Given the description of an element on the screen output the (x, y) to click on. 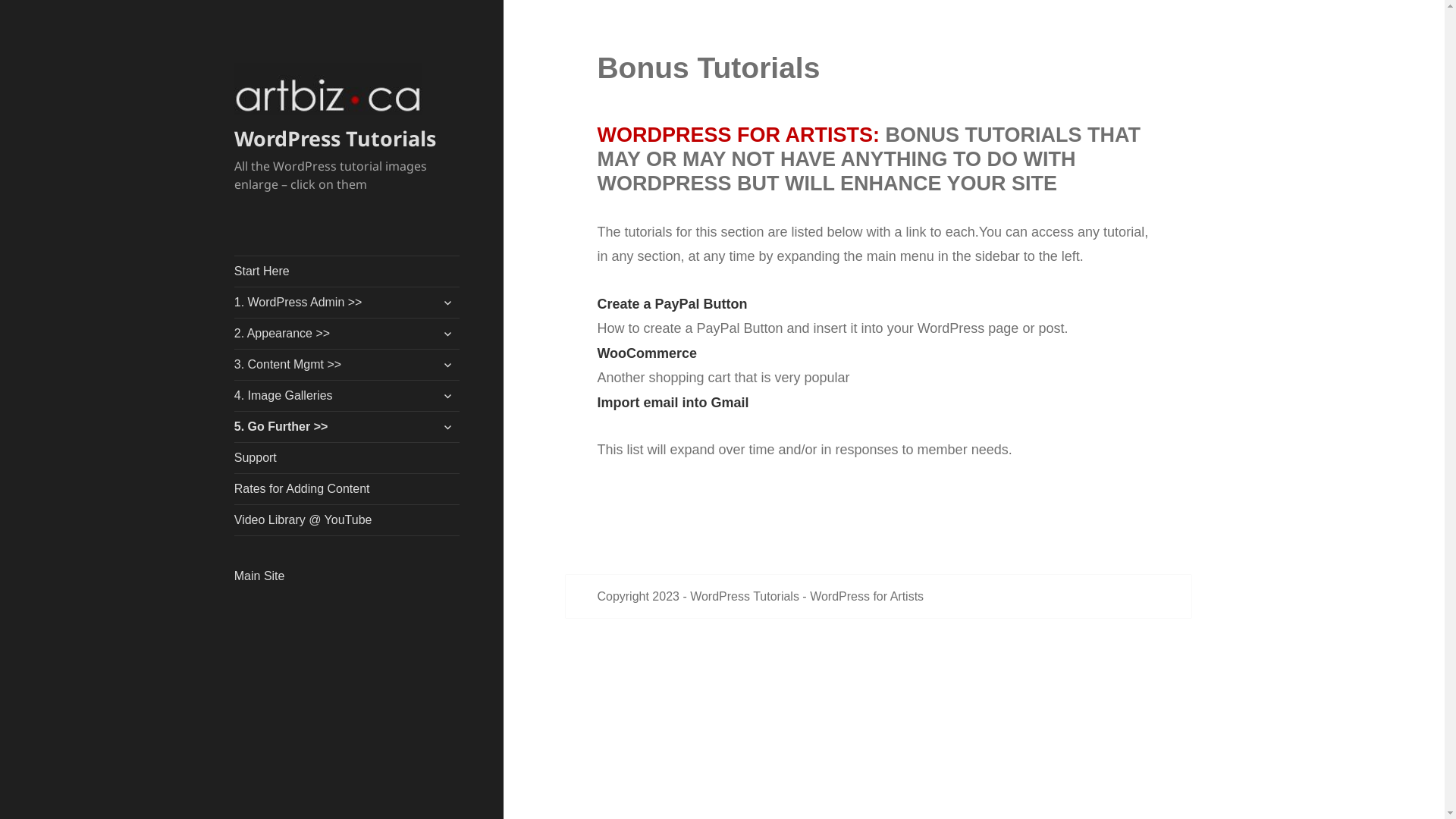
Video Library @ YouTube Element type: text (346, 520)
Main Site Element type: text (259, 575)
WooCommerce Element type: text (646, 352)
expand child menu Element type: text (447, 333)
expand child menu Element type: text (447, 426)
WordPress for Artists Element type: text (866, 596)
1. WordPress Admin >> Element type: text (346, 302)
4. Image Galleries Element type: text (346, 395)
Create a PayPal Button Element type: text (671, 303)
Rates for Adding Content Element type: text (346, 488)
expand child menu Element type: text (447, 395)
5. Go Further >> Element type: text (346, 426)
Import email into Gmail Element type: text (672, 402)
2. Appearance >> Element type: text (346, 333)
Support Element type: text (346, 457)
Start Here Element type: text (346, 271)
WordPress Tutorials Element type: text (744, 596)
WordPress Tutorials Element type: text (335, 138)
expand child menu Element type: text (447, 364)
3. Content Mgmt >> Element type: text (346, 364)
expand child menu Element type: text (447, 302)
